Given the description of an element on the screen output the (x, y) to click on. 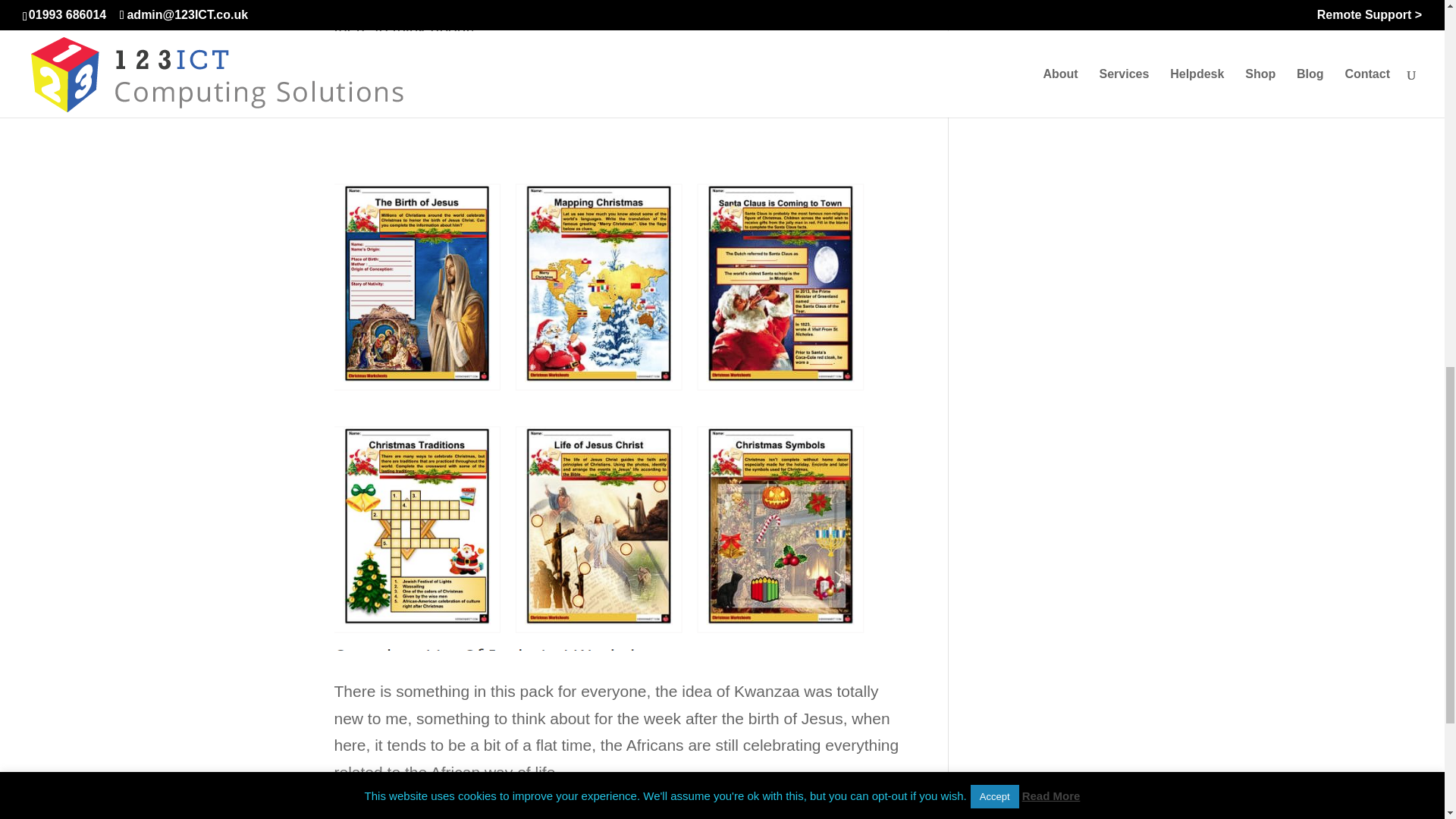
Safer Internet Day 2024 (1035, 7)
Download the Worksheet Pack (442, 71)
Kwanzaa (397, 5)
Create Day 24 (1022, 39)
